Given the description of an element on the screen output the (x, y) to click on. 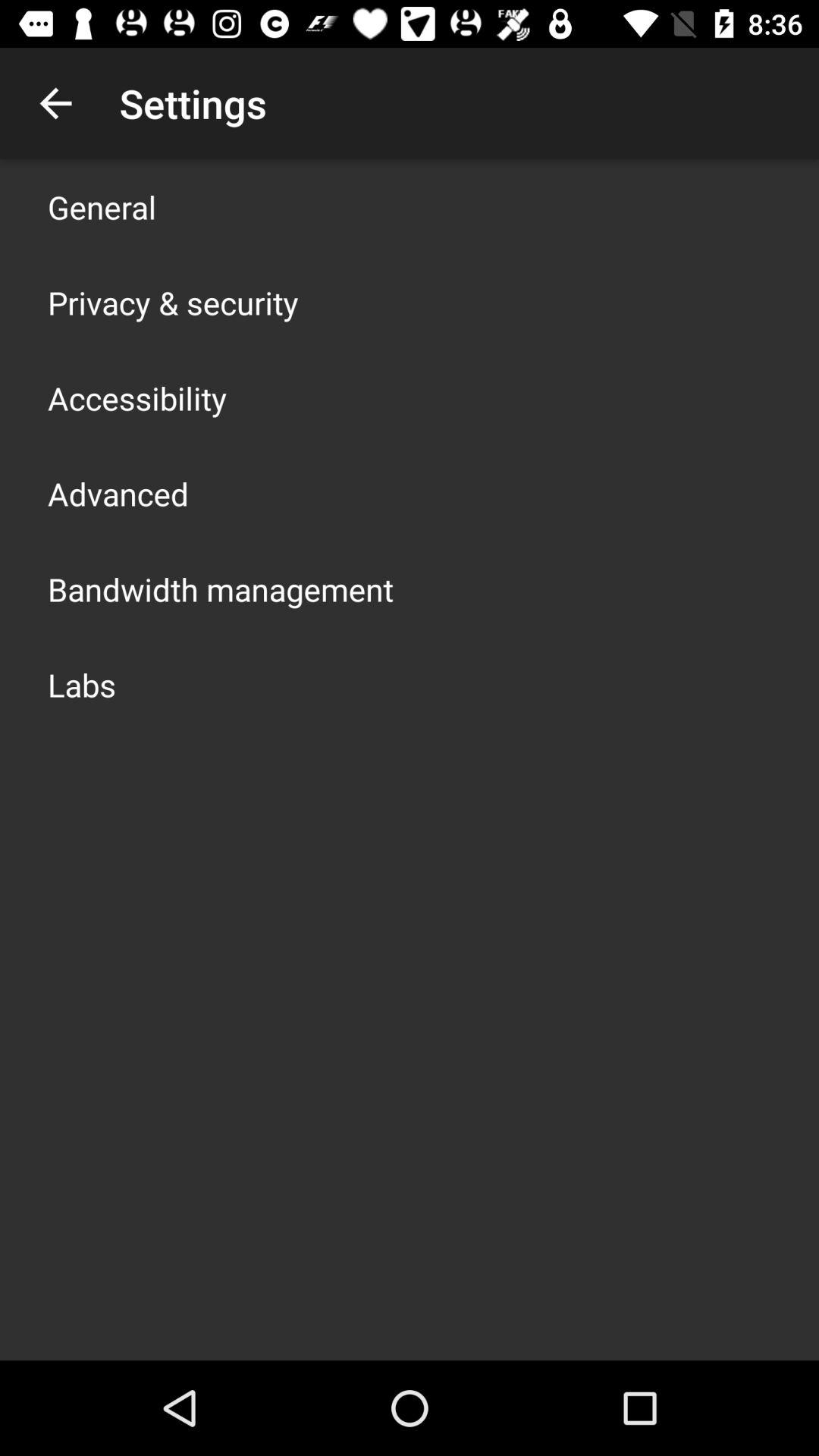
click icon above general item (55, 103)
